Given the description of an element on the screen output the (x, y) to click on. 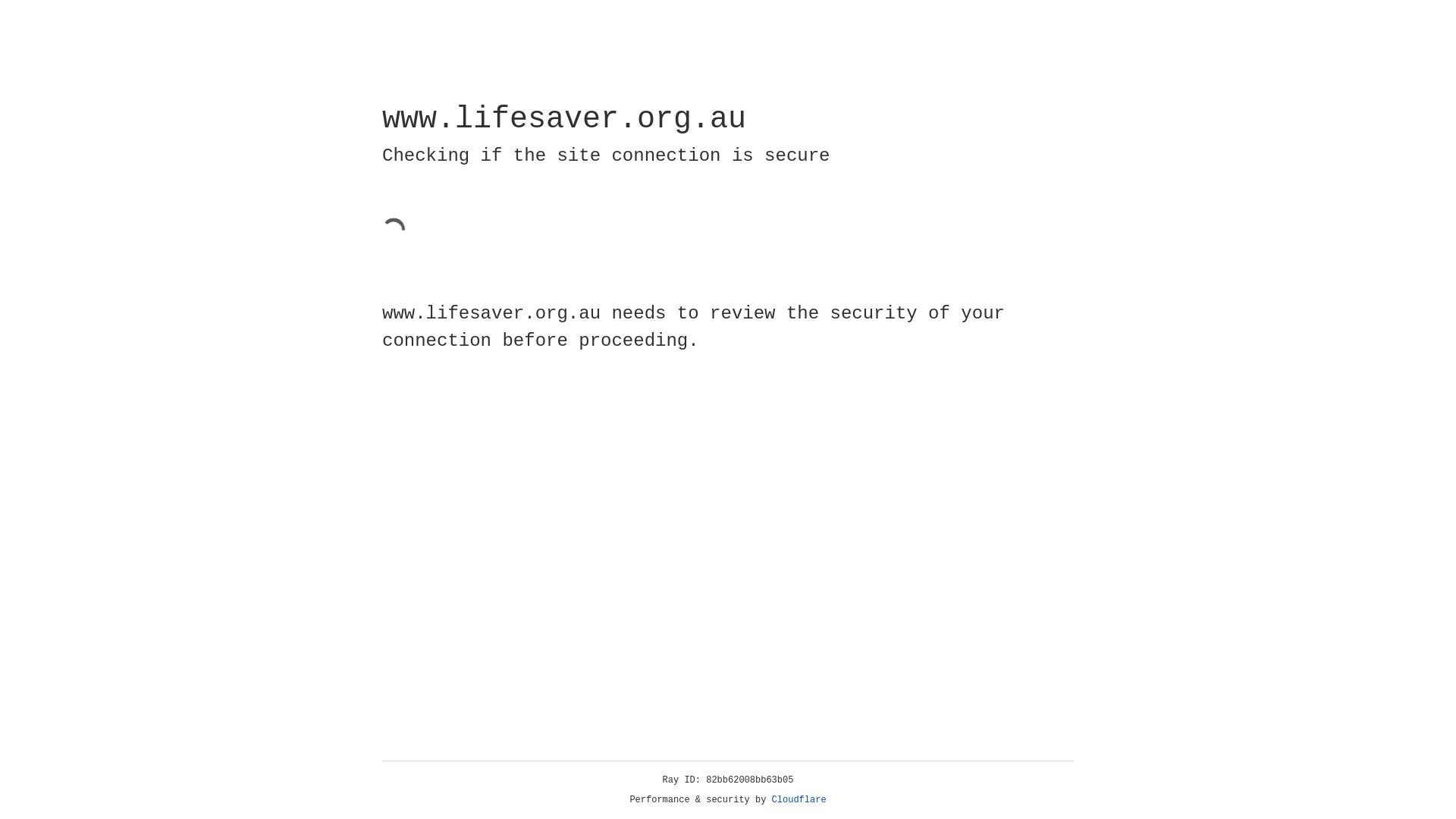
Cloudflare Element type: text (798, 799)
